Given the description of an element on the screen output the (x, y) to click on. 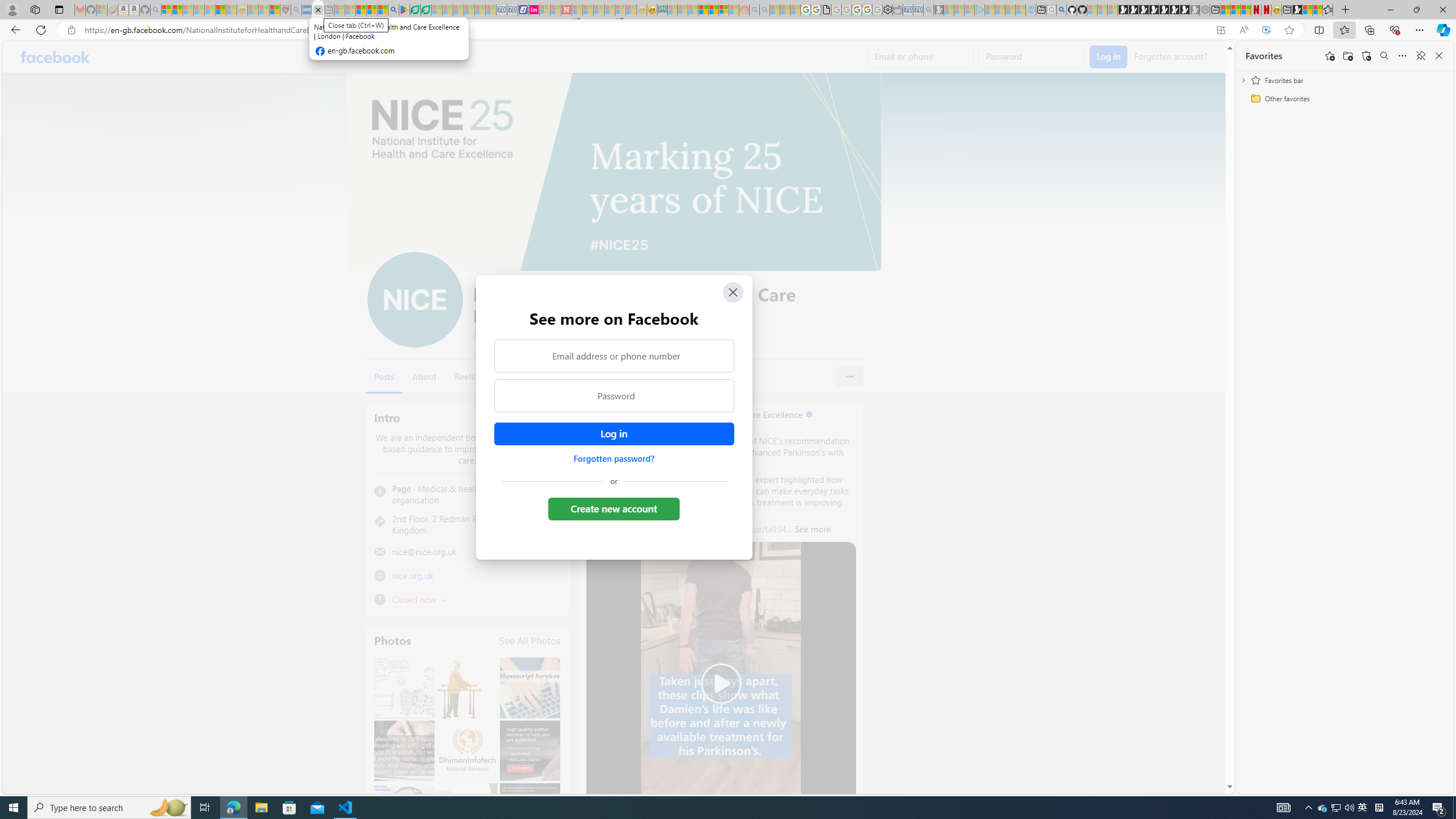
Email address or phone number (613, 355)
Jobs - lastminute.com Investor Portal (534, 9)
